Given the description of an element on the screen output the (x, y) to click on. 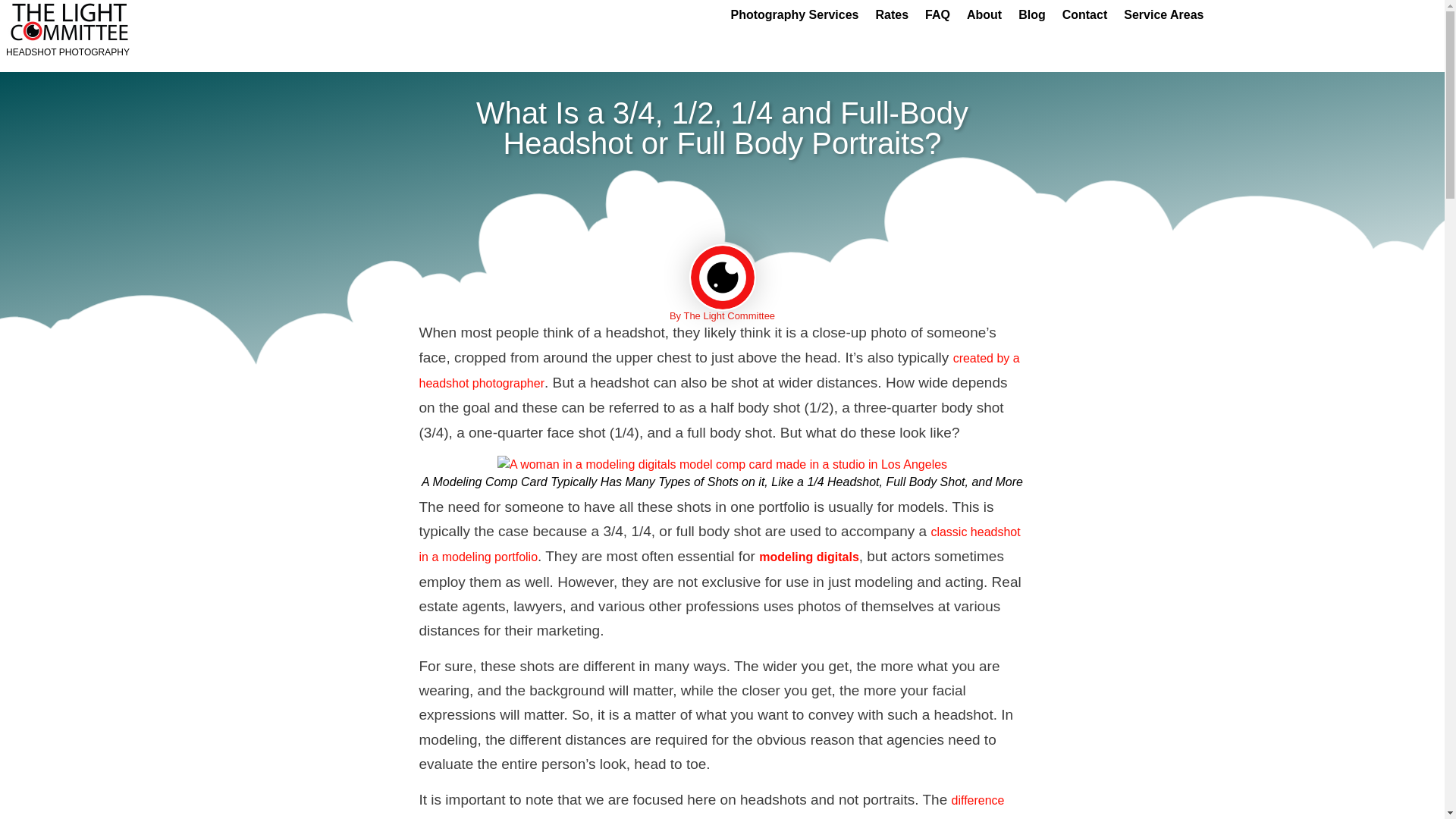
Blog (1032, 15)
Rates (891, 15)
Photography Services (794, 15)
Contact (1085, 15)
FAQ (937, 15)
The Light Committee (722, 464)
Service Areas (1163, 15)
About (984, 15)
